Given the description of an element on the screen output the (x, y) to click on. 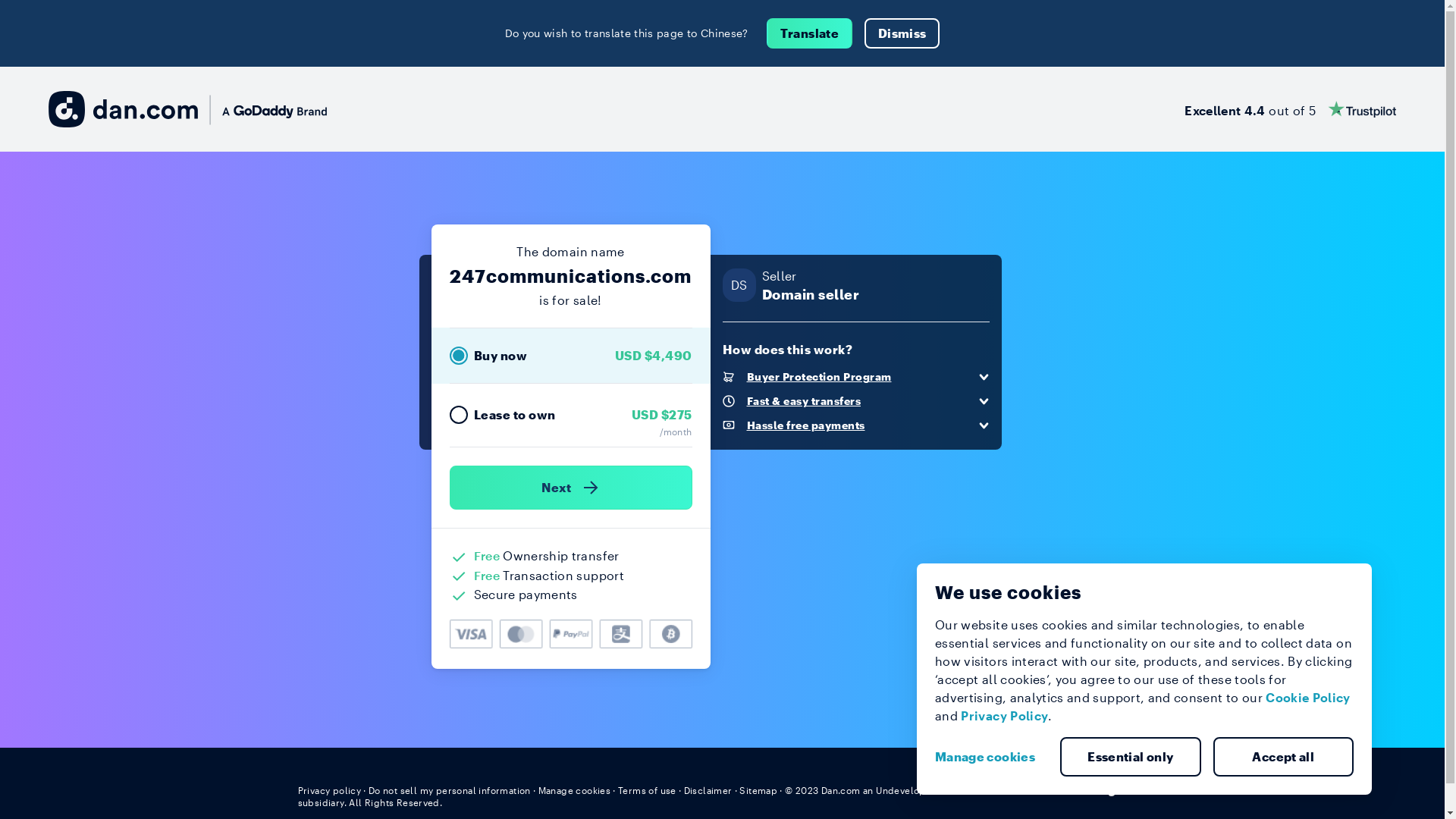
Privacy policy Element type: text (328, 789)
Disclaimer Element type: text (708, 789)
Dismiss Element type: text (901, 33)
Excellent 4.4 out of 5 Element type: text (1290, 109)
Manage cookies Element type: text (991, 756)
Privacy Policy Element type: text (1004, 715)
Do not sell my personal information Element type: text (449, 789)
Cookie Policy Element type: text (1307, 697)
Translate Element type: text (809, 33)
Sitemap Element type: text (758, 789)
English Element type: text (1119, 789)
Next
) Element type: text (569, 487)
Terms of use Element type: text (647, 789)
Accept all Element type: text (1283, 756)
Manage cookies Element type: text (574, 790)
Essential only Element type: text (1130, 756)
